Given the description of an element on the screen output the (x, y) to click on. 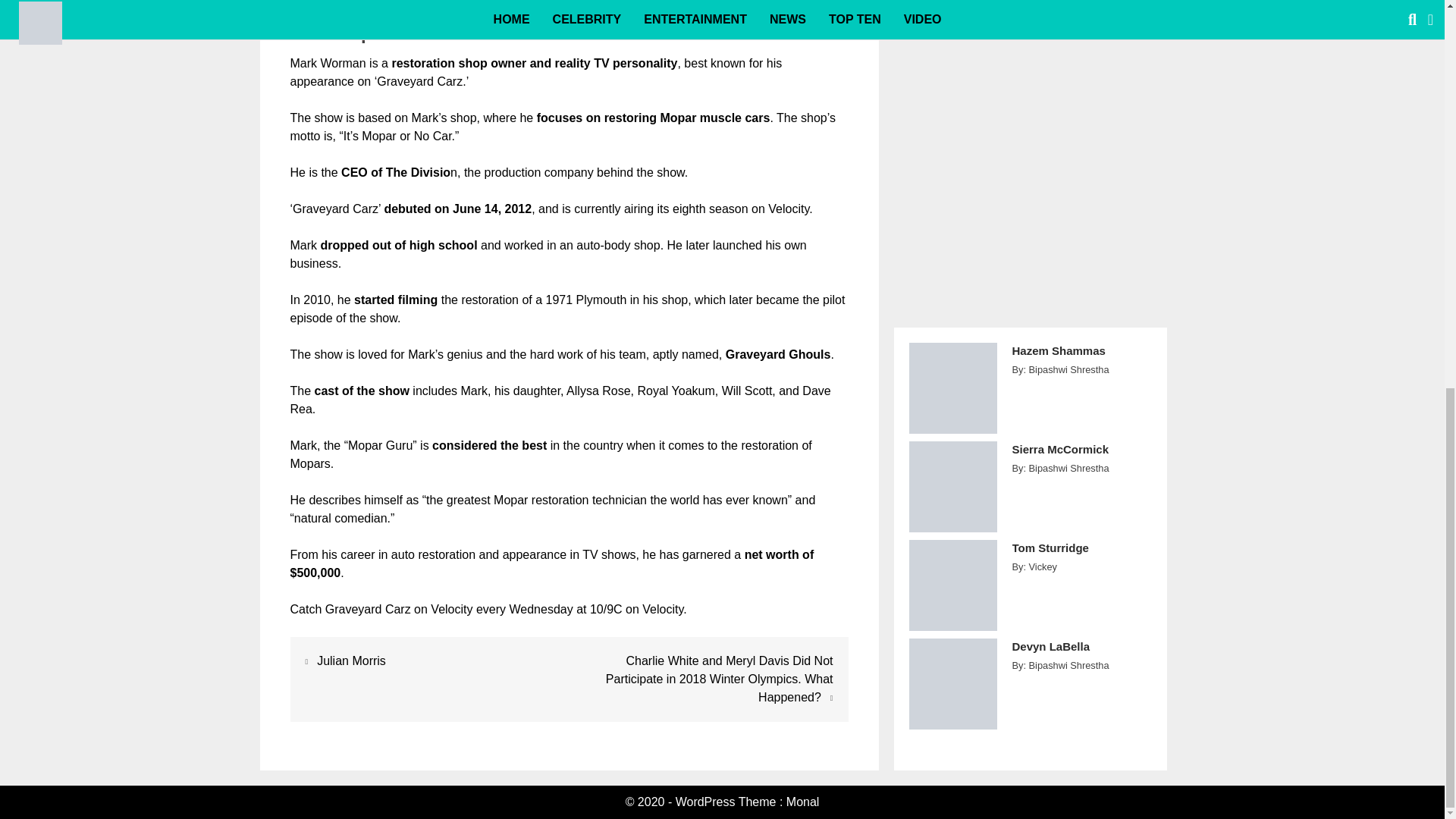
Julian Morris (351, 660)
